Given the description of an element on the screen output the (x, y) to click on. 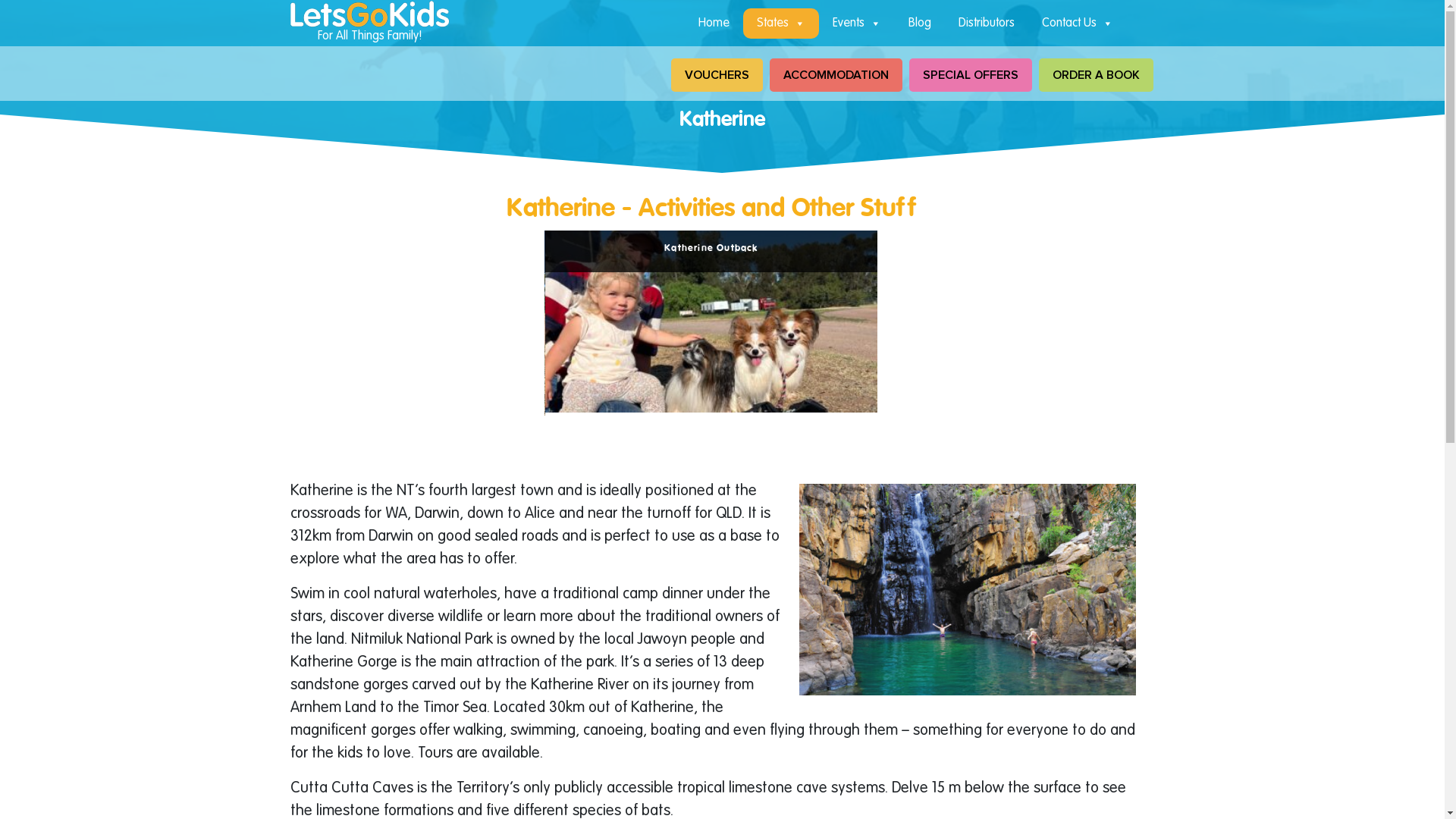
ORDER A BOOK Element type: text (1095, 74)
States Element type: text (781, 22)
Distributors Element type: text (986, 22)
Home Element type: text (713, 22)
VOUCHERS Element type: text (716, 74)
Events Element type: text (856, 22)
ACCOMMODATION Element type: text (834, 74)
SPECIAL OFFERS Element type: text (969, 74)
Contact Us Element type: text (1077, 22)
Katherine Outback Element type: text (378, 322)
Katherine Outback Element type: text (711, 321)
For All Things Family! Element type: text (368, 22)
Blog Element type: text (919, 22)
